Given the description of an element on the screen output the (x, y) to click on. 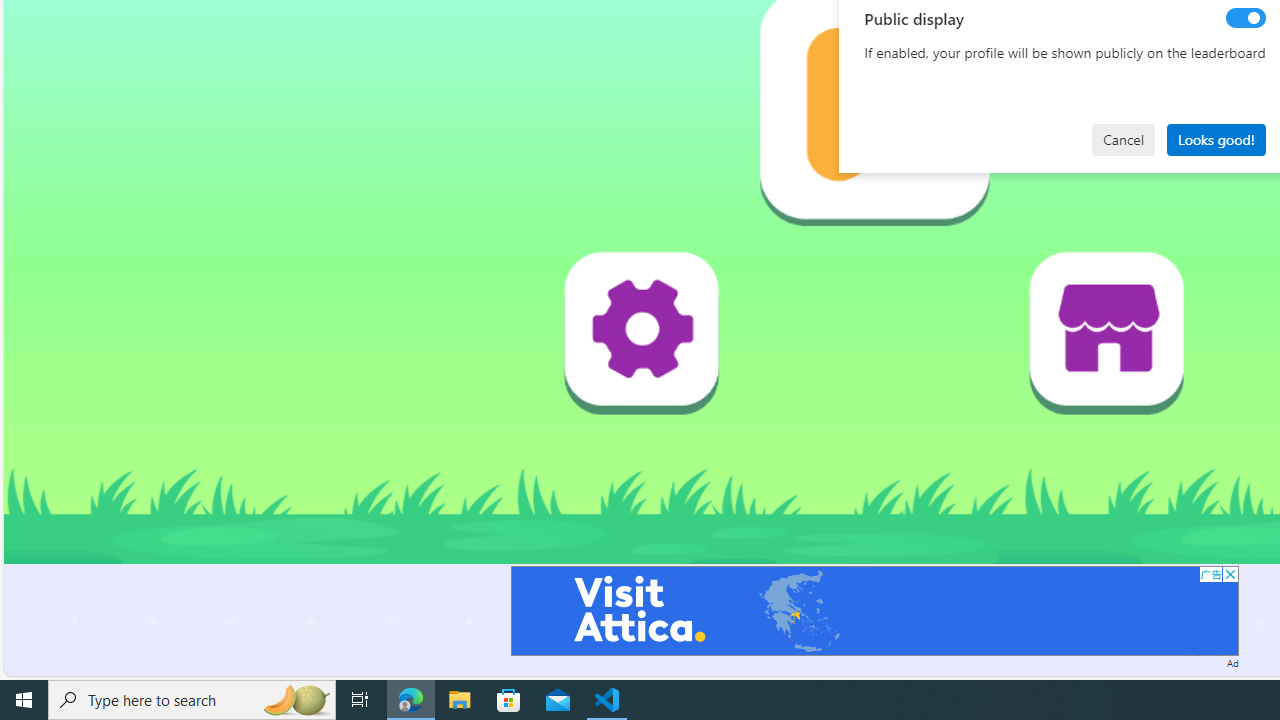
Advertisement (874, 610)
Looks good! (1216, 139)
Advertisement (874, 610)
Cancel (1123, 139)
AutomationID: cbb (1229, 574)
